Given the description of an element on the screen output the (x, y) to click on. 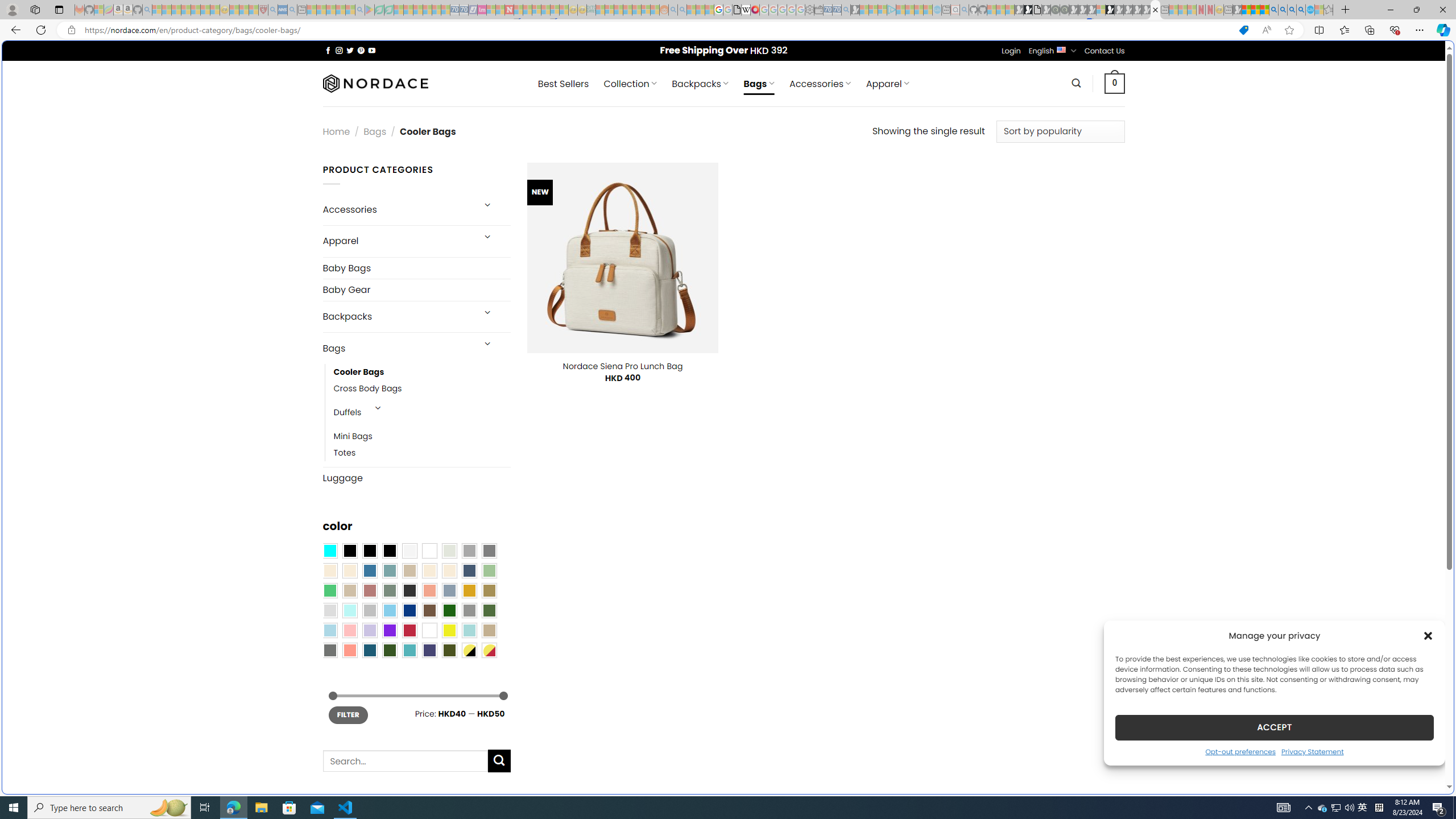
Search for: (404, 760)
Nordace - Cooler Bags (1154, 9)
Contact Us (1104, 50)
Charcoal (408, 590)
Login (1010, 50)
Red (408, 630)
Dark Gray (468, 550)
Light Purple (369, 630)
Login (1010, 50)
